Given the description of an element on the screen output the (x, y) to click on. 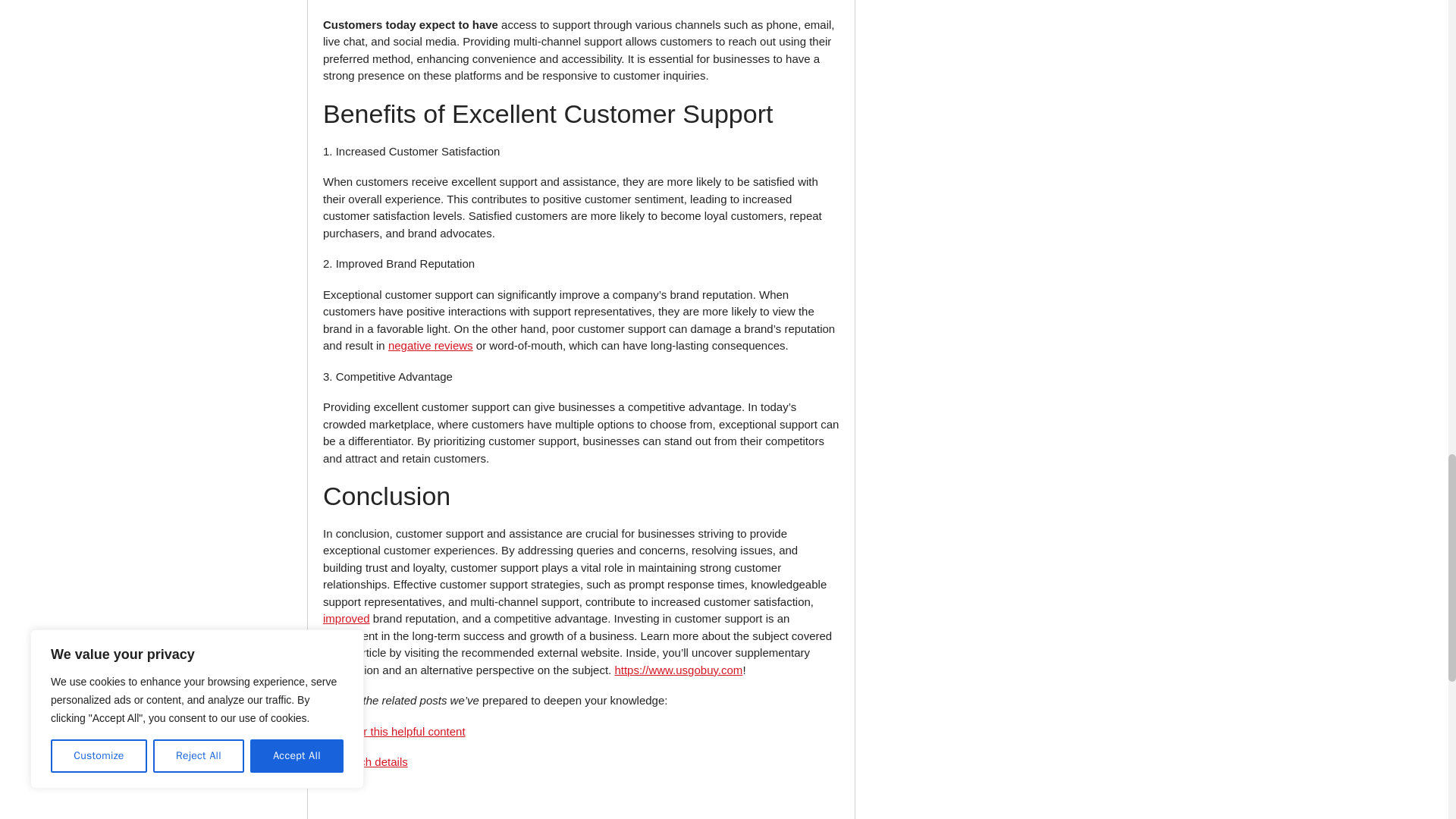
Research details (365, 761)
Discover this helpful content (394, 730)
negative reviews (430, 345)
improved (346, 617)
